Given the description of an element on the screen output the (x, y) to click on. 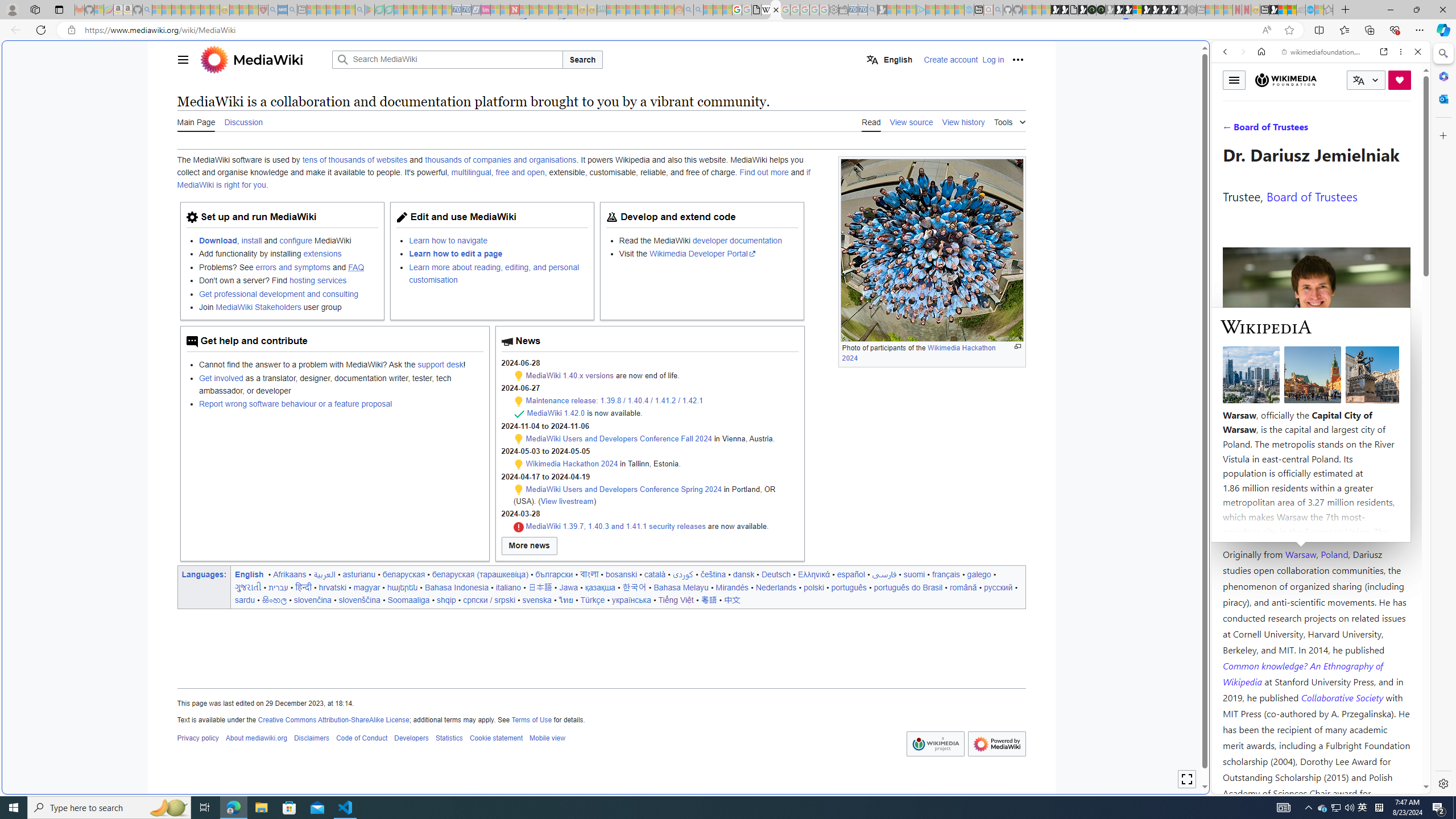
Visit the Wikimedia Developer Portal (707, 253)
This page was last edited on 29 December 2023, at 18:14. (601, 703)
Report wrong software behaviour or a feature proposal (295, 403)
MediaWiki Users and Developers Conference Fall 2024 (618, 438)
Download (217, 239)
Code of Conduct (360, 738)
Wiktionary (1315, 380)
Afrikaans (290, 574)
